Given the description of an element on the screen output the (x, y) to click on. 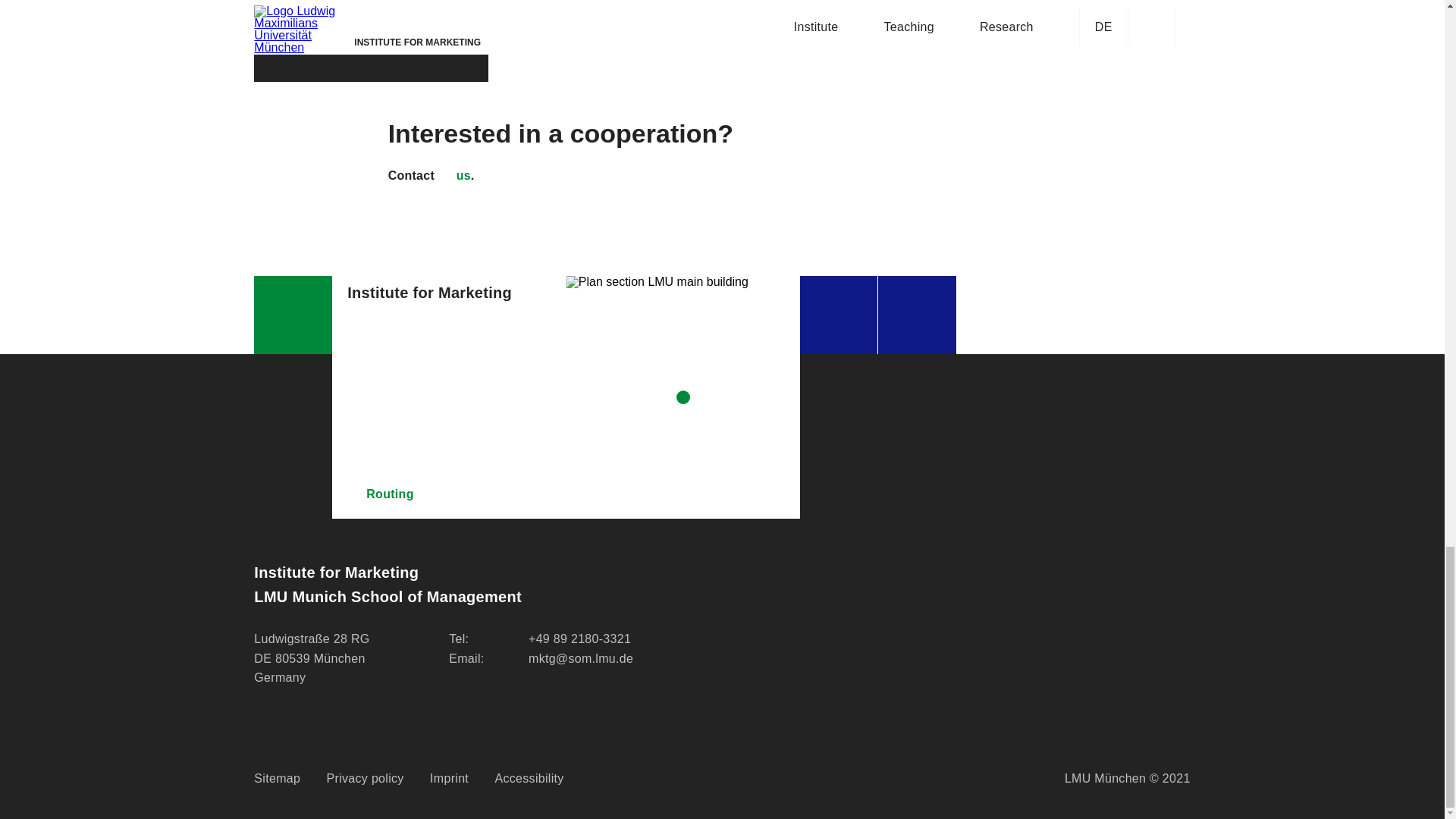
Plan section LMU main building (683, 397)
Home (292, 314)
us (454, 176)
LinkedIn-Link opens in a new window (838, 314)
Read more (370, 53)
Routing (449, 494)
Twitter-Link opens in a new window (916, 314)
